Given the description of an element on the screen output the (x, y) to click on. 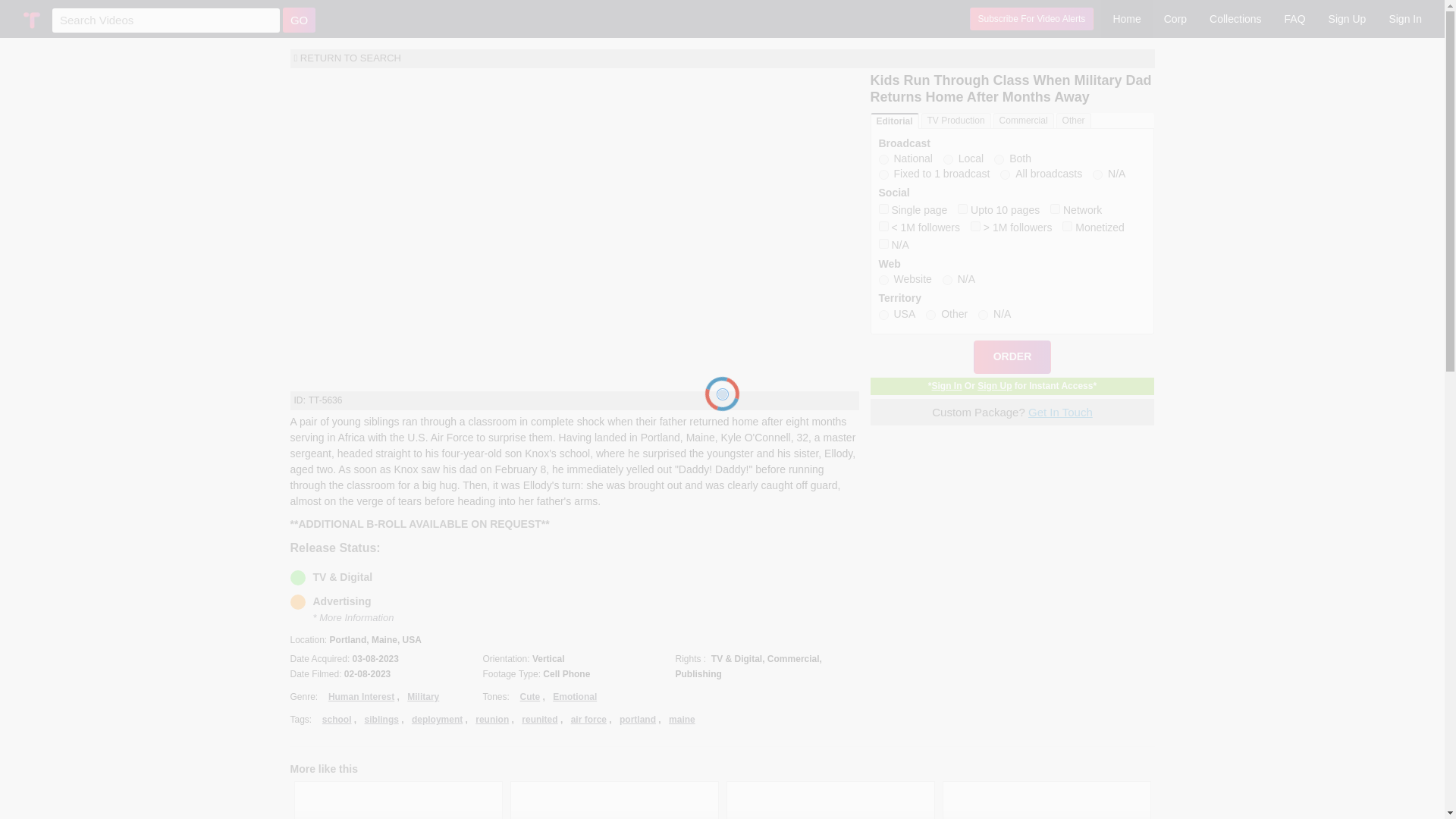
2 (948, 159)
Other (1073, 120)
2 (931, 315)
Subscribe For Video Alerts (1031, 18)
ORDER (1012, 356)
Get In Touch (1060, 411)
Home (1125, 18)
reunited (539, 719)
2 (963, 208)
siblings (381, 719)
FAQ (1294, 18)
Military (423, 696)
Sign In (1404, 18)
Sign Up (1347, 18)
4 (882, 225)
